Given the description of an element on the screen output the (x, y) to click on. 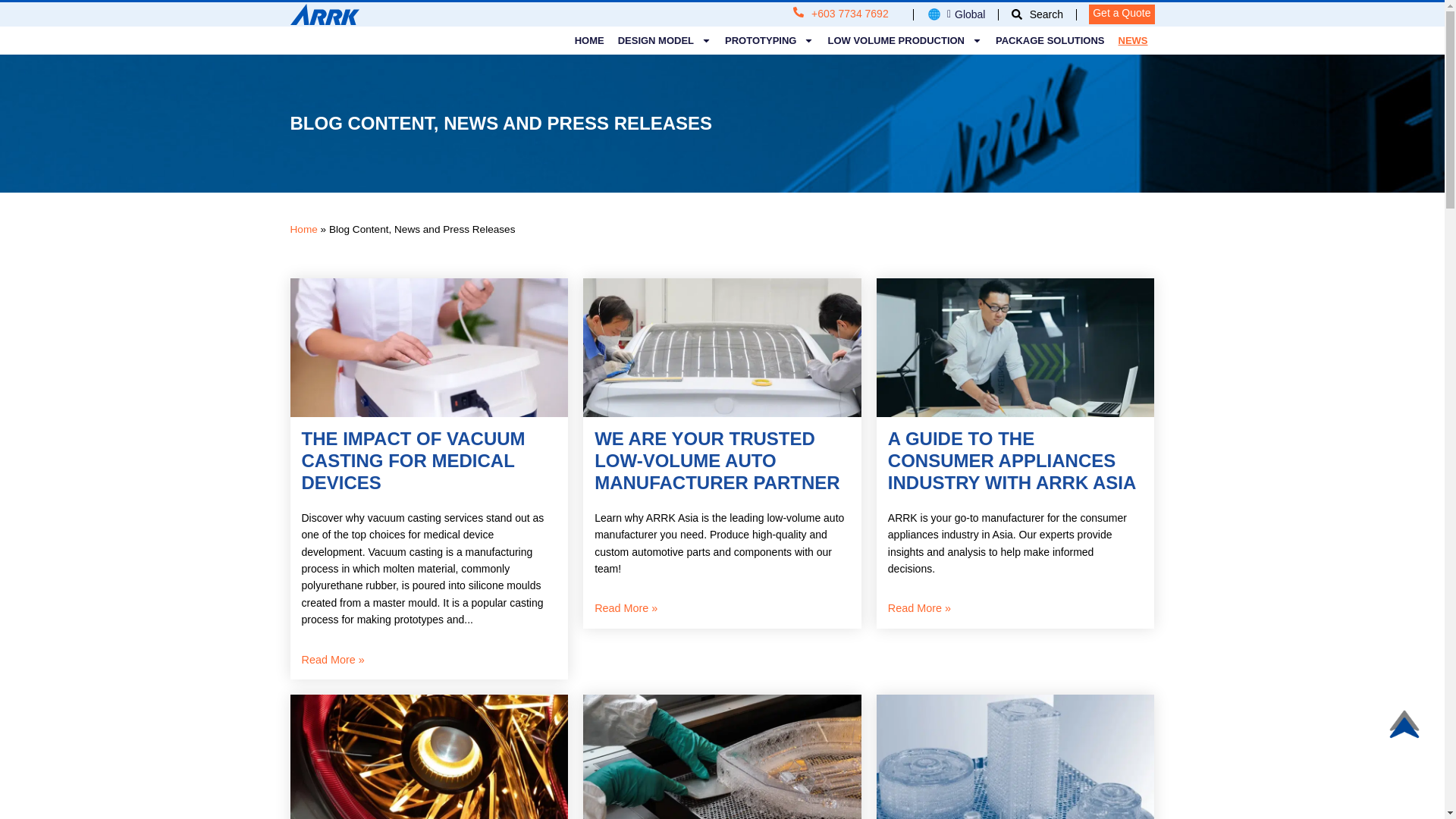
Global (955, 14)
